Given the description of an element on the screen output the (x, y) to click on. 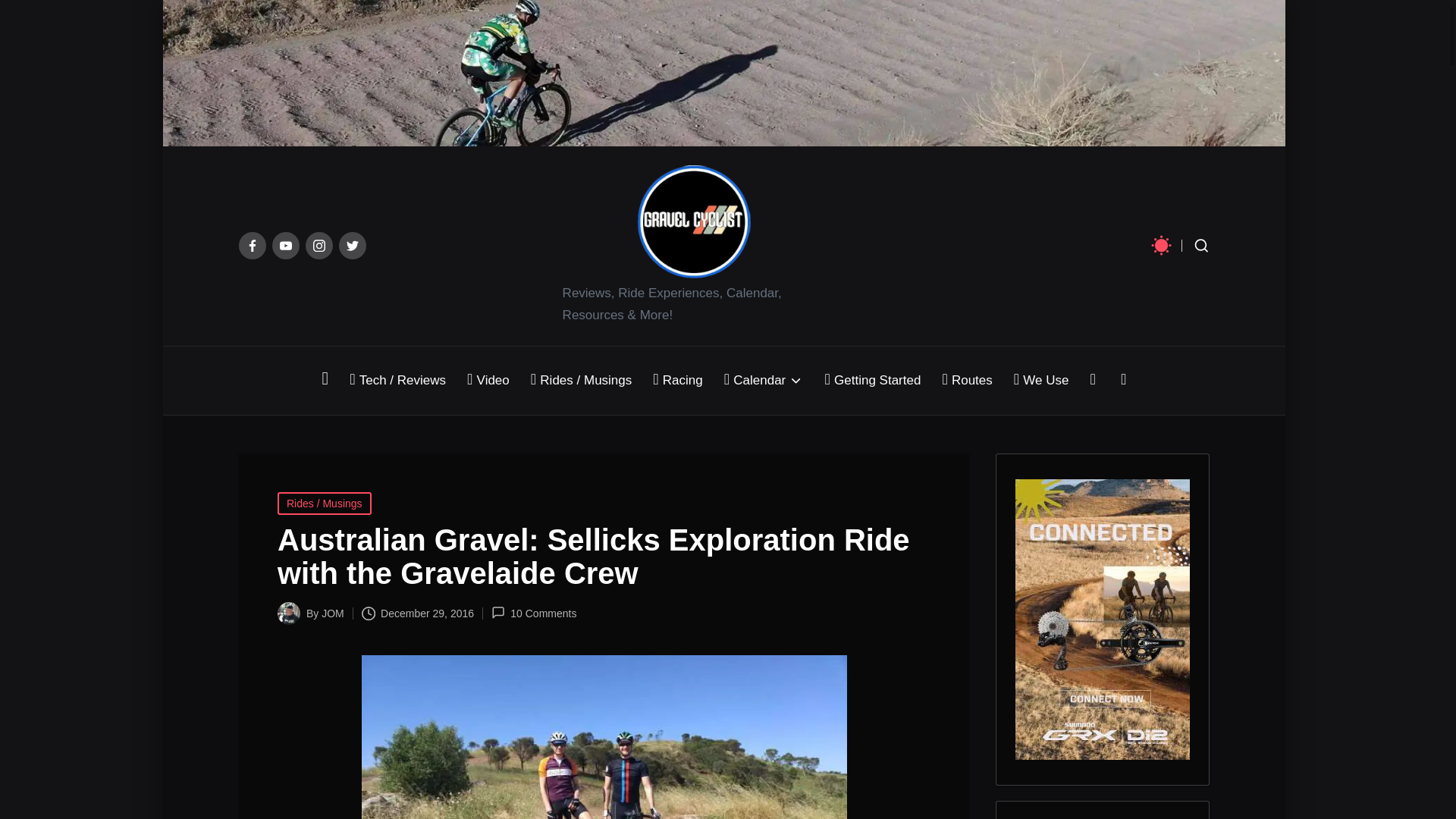
10 Comments (534, 613)
Racing (676, 380)
Getting Started (872, 380)
View all posts by JOM (332, 613)
We Use (1040, 380)
JOM (332, 613)
Calendar (763, 380)
Video (488, 380)
Routes (966, 380)
